Given the description of an element on the screen output the (x, y) to click on. 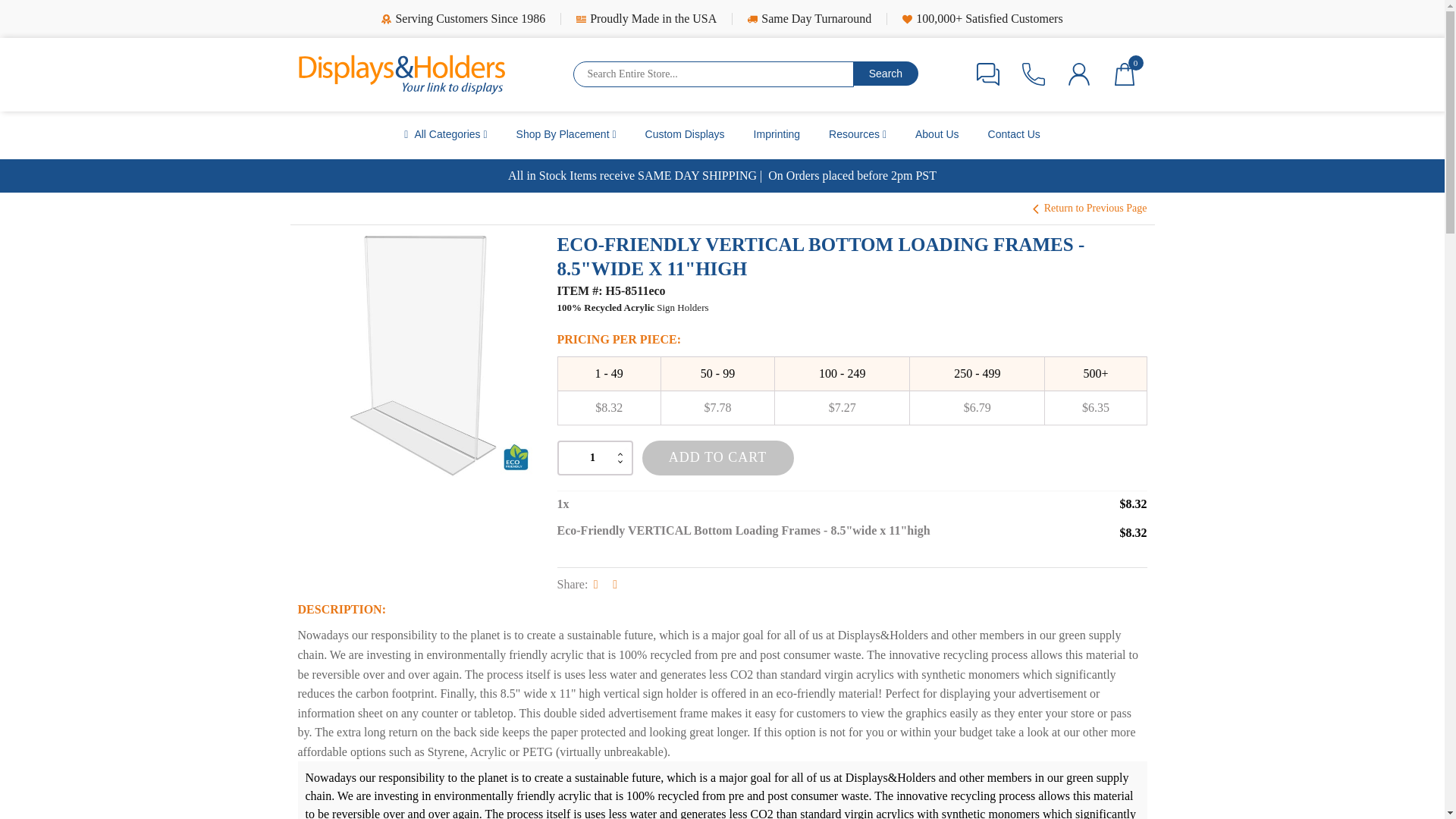
0 (1123, 73)
Search (885, 73)
Search (885, 73)
H5-8511-2022 (419, 354)
All Categories (445, 135)
1 (593, 457)
